Given the description of an element on the screen output the (x, y) to click on. 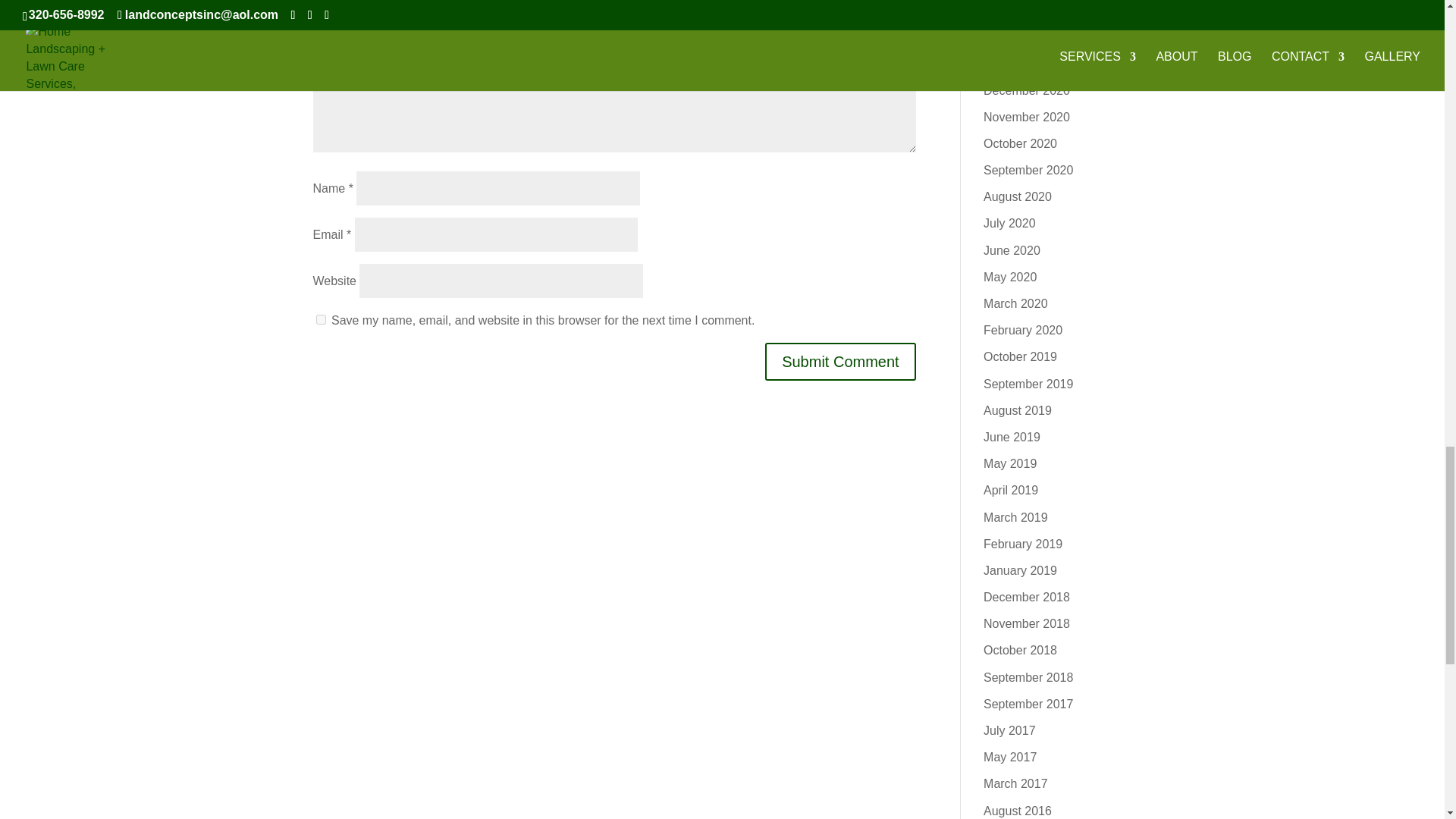
Submit Comment (840, 361)
Submit Comment (840, 361)
yes (319, 319)
